Given the description of an element on the screen output the (x, y) to click on. 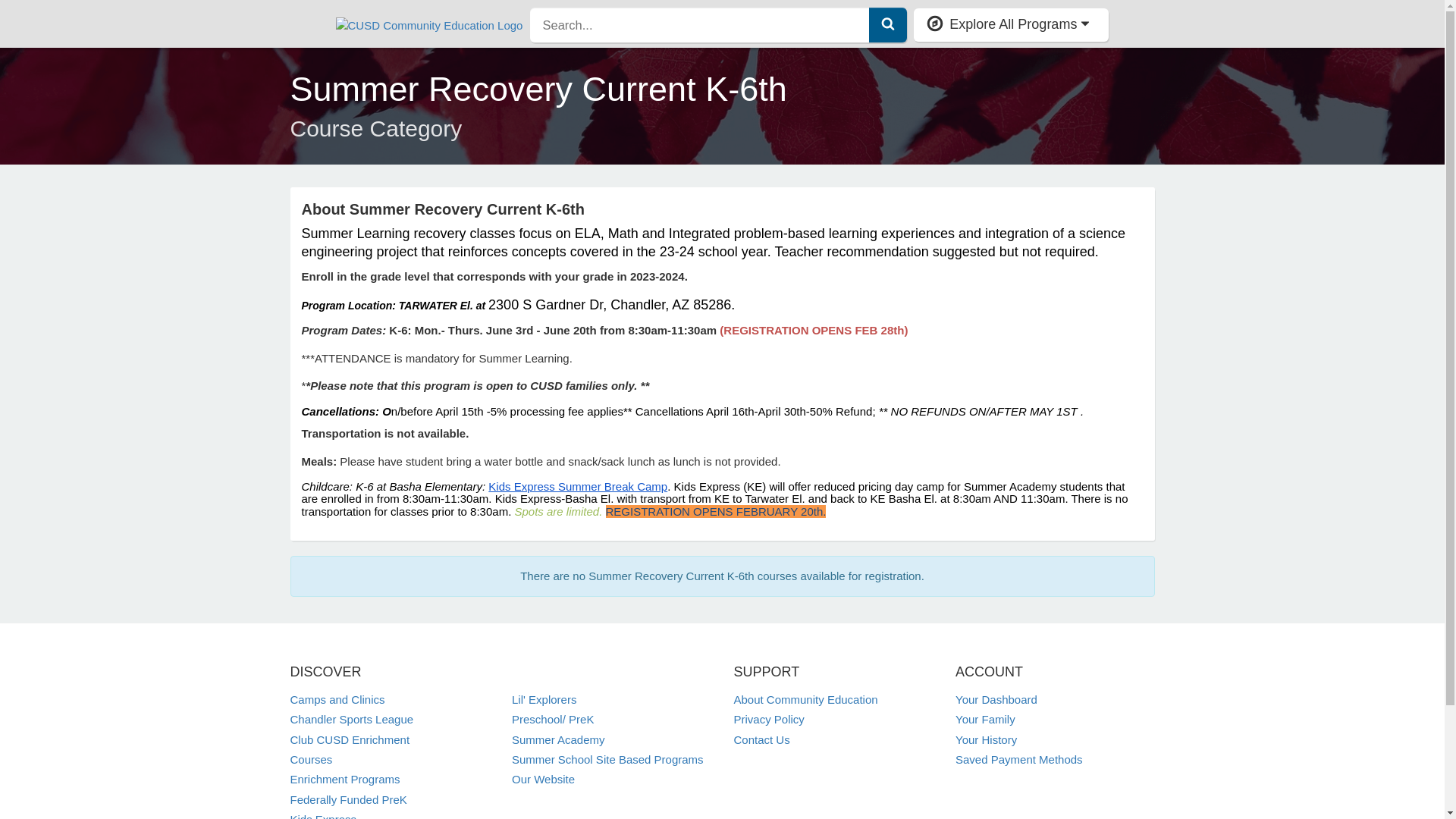
Explore All Programs (1011, 24)
 Search Icon (887, 23)
 Compass Icon (934, 23)
 Caret Down Icon (1085, 23)
